Given the description of an element on the screen output the (x, y) to click on. 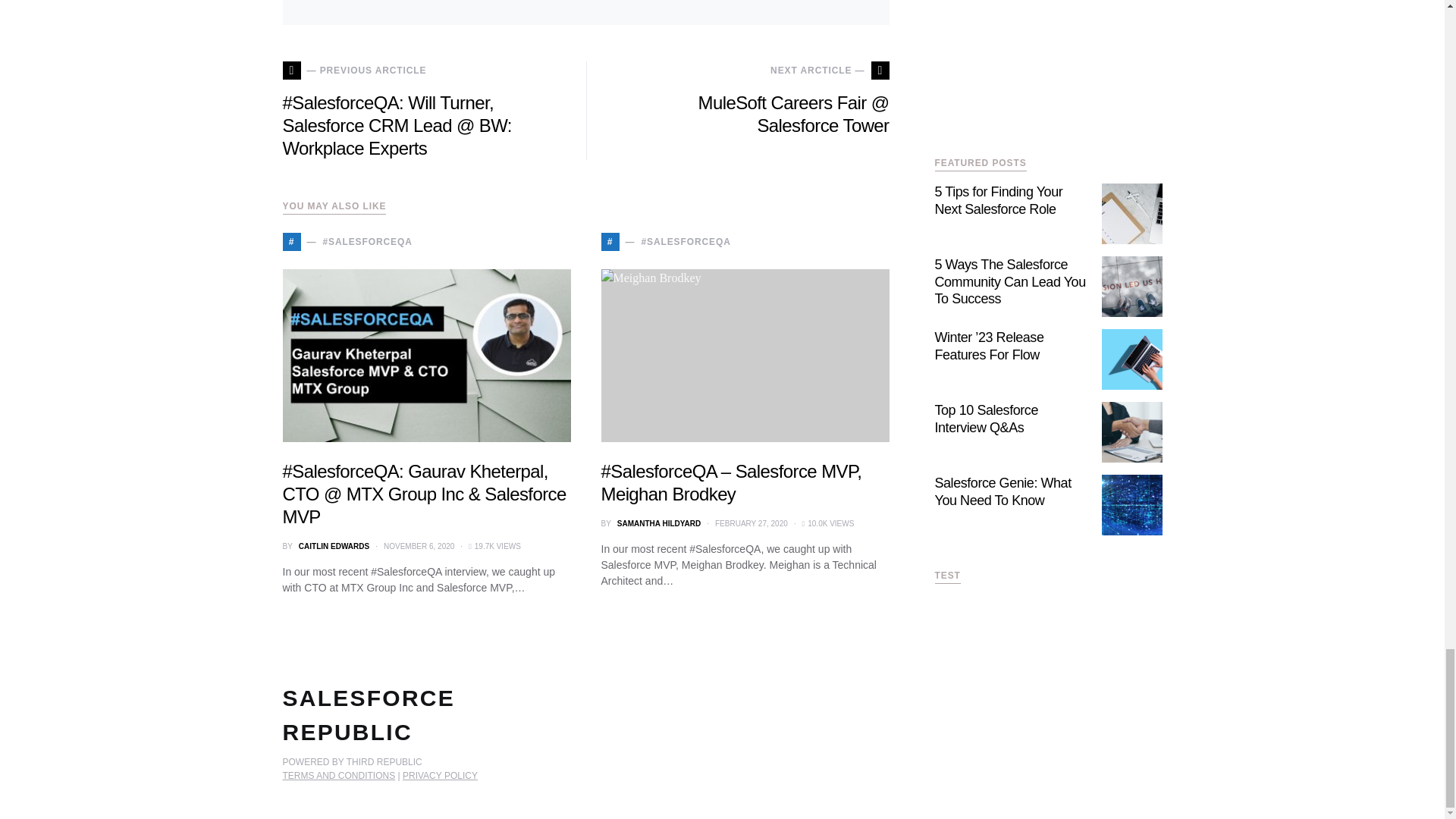
View all posts by Caitlin Edwards (333, 546)
View all posts by Samantha Hildyard (658, 523)
